Given the description of an element on the screen output the (x, y) to click on. 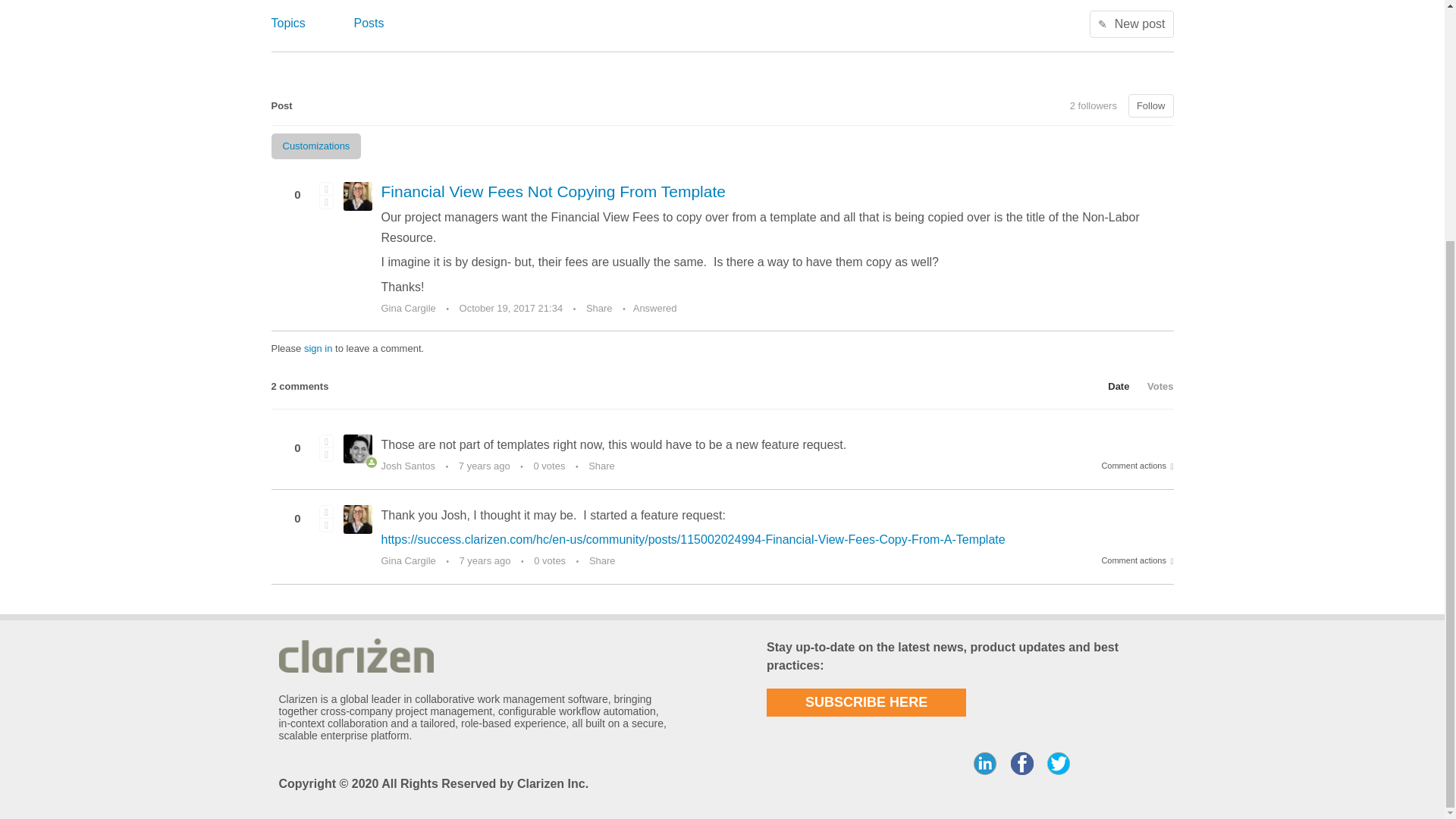
Yes (325, 187)
No (325, 525)
No (325, 454)
Follow (1150, 105)
Opens a sign-in dialog (1150, 105)
Yes (325, 511)
Topics (287, 21)
No (325, 201)
2017-10-20 11:38 (484, 465)
New post (1131, 22)
Date (1111, 386)
Posts (368, 21)
sign in (318, 348)
2017-10-19 21:34 (511, 307)
Votes (1152, 386)
